Given the description of an element on the screen output the (x, y) to click on. 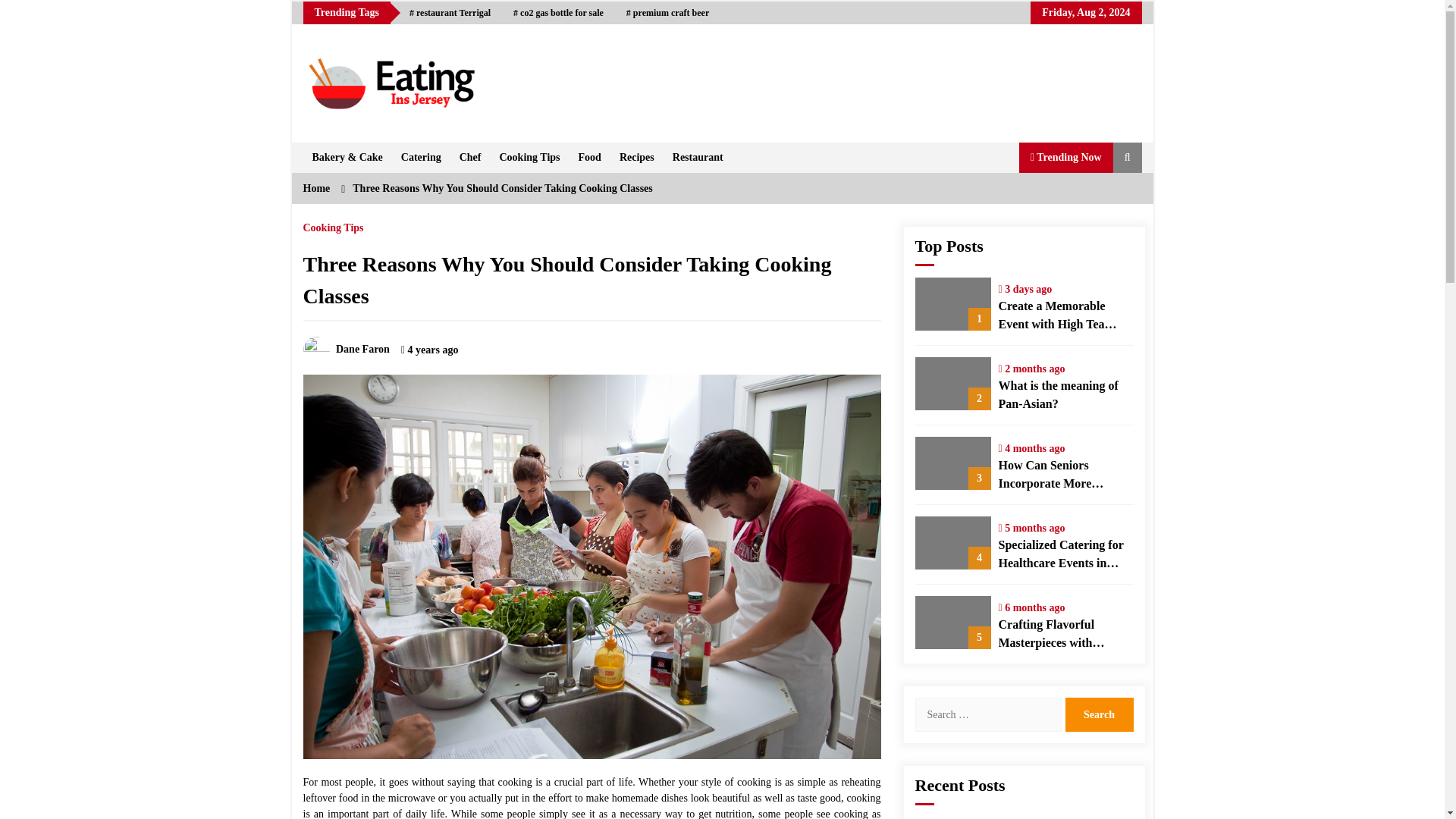
restaurant Terrigal (449, 12)
Food (589, 157)
premium craft beer (667, 12)
Cooking Tips (529, 157)
Restaurant (697, 157)
Cooking Tips (333, 224)
Search (1098, 714)
Chef (469, 157)
co2 gas bottle for sale (558, 12)
Dane Faron (346, 348)
Recipes (636, 157)
Catering (420, 157)
Three Reasons Why You Should Consider Taking Cooking Classes (502, 188)
Search (1098, 714)
